Given the description of an element on the screen output the (x, y) to click on. 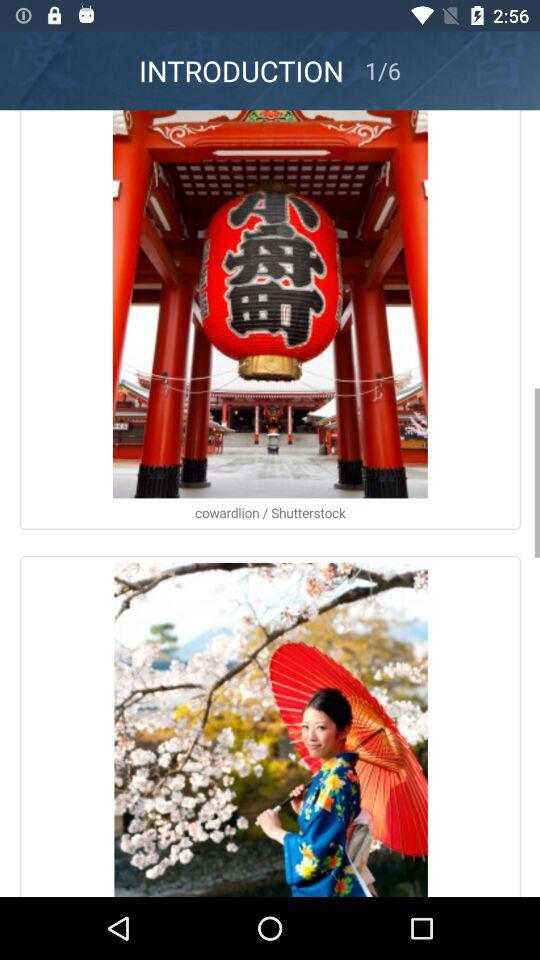
scroll (270, 503)
